Given the description of an element on the screen output the (x, y) to click on. 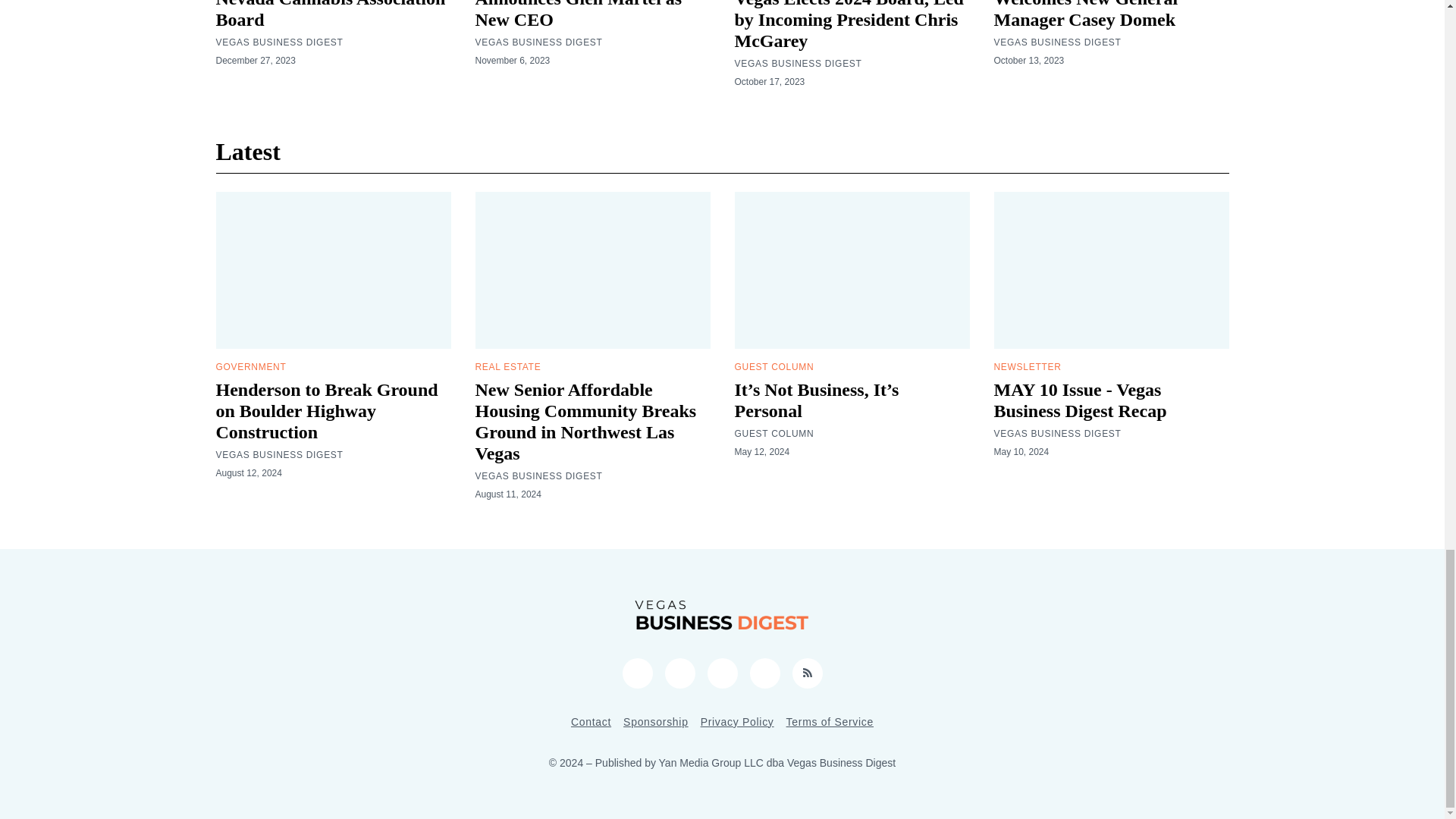
Nevada Builders Alliance Announces Glen Martel as New CEO (577, 14)
VEGAS BUSINESS DIGEST (538, 42)
Tisha Black Elected to Nevada Cannabis Association Board (330, 14)
VEGAS BUSINESS DIGEST (278, 42)
